Given the description of an element on the screen output the (x, y) to click on. 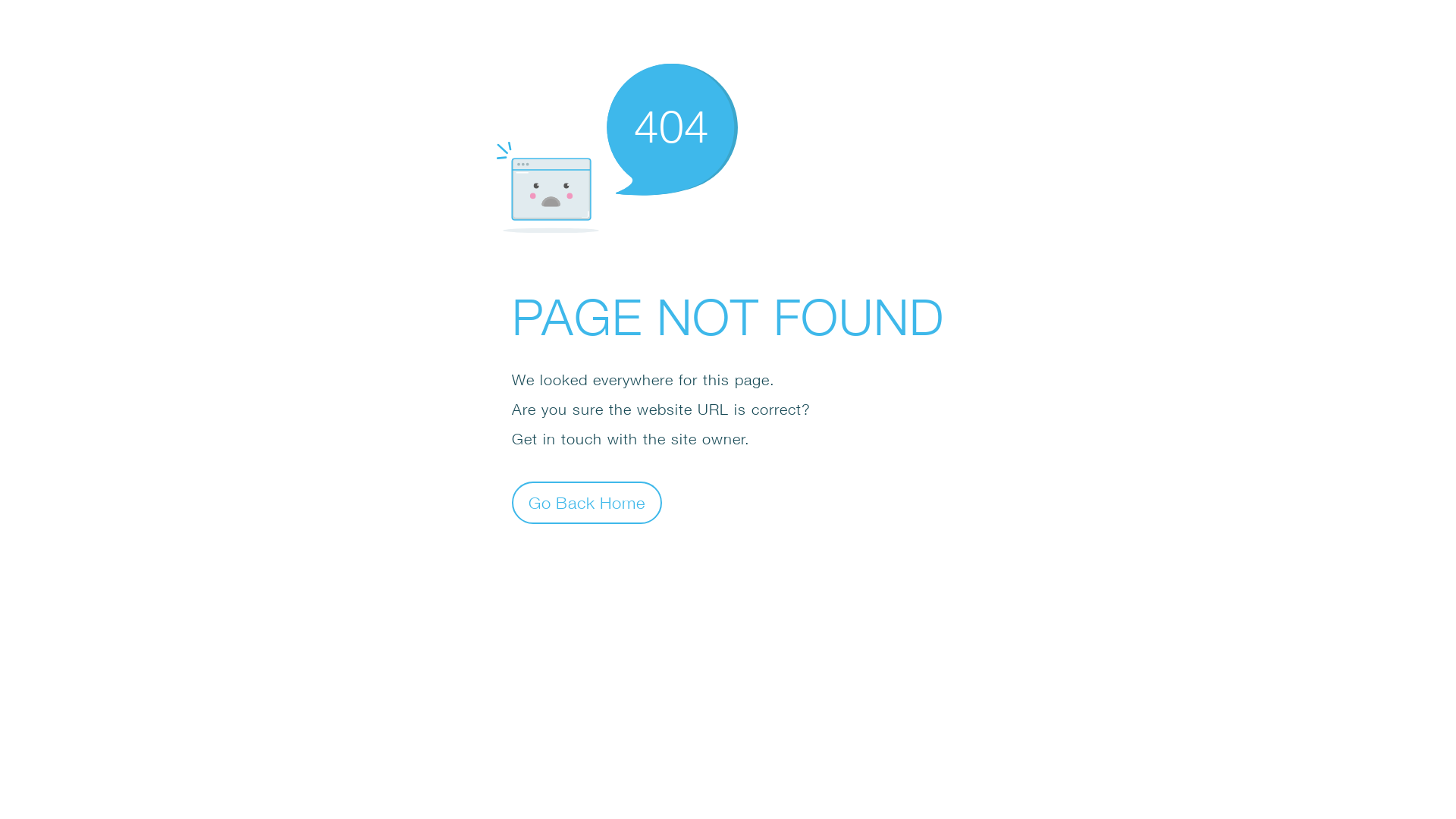
Go Back Home Element type: text (586, 502)
